Given the description of an element on the screen output the (x, y) to click on. 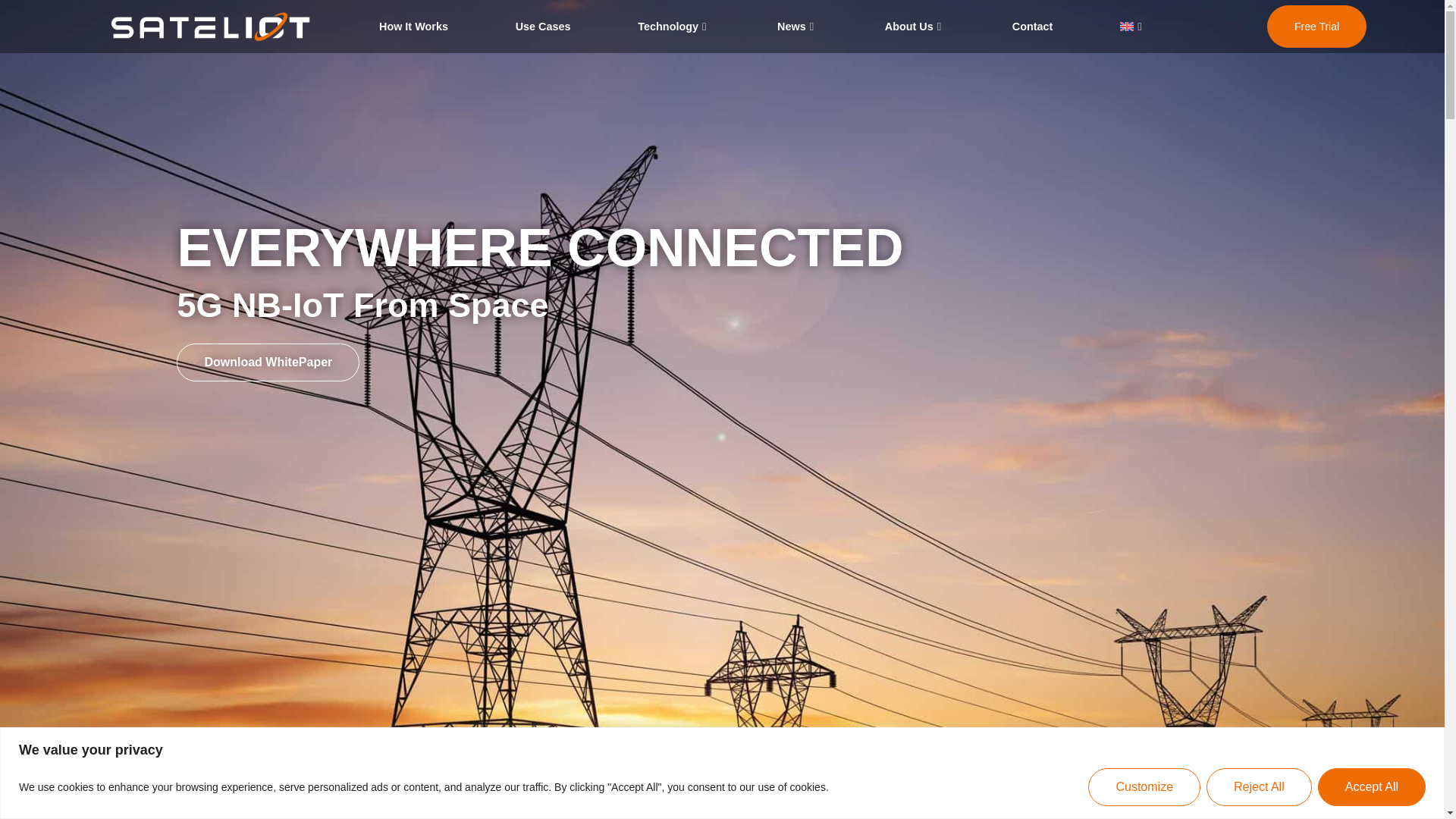
Customize (1143, 786)
Reject All (1259, 786)
How It Works (413, 26)
News (797, 26)
Contact (1032, 26)
Accept All (1371, 786)
Use Cases (543, 26)
Technology (673, 26)
About Us (914, 26)
